Given the description of an element on the screen output the (x, y) to click on. 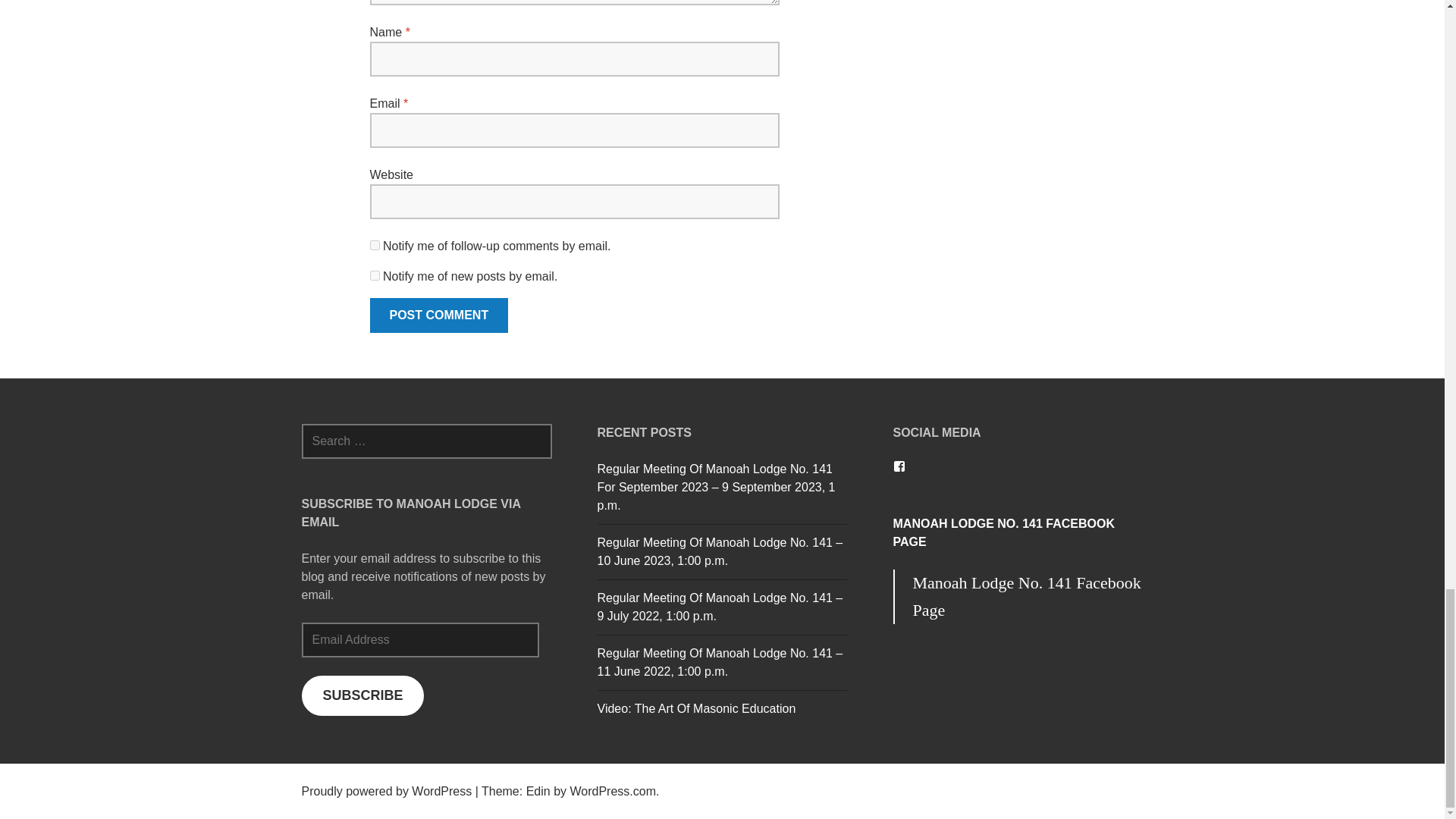
Post Comment (438, 315)
subscribe (374, 275)
subscribe (374, 245)
Post Comment (438, 315)
